Given the description of an element on the screen output the (x, y) to click on. 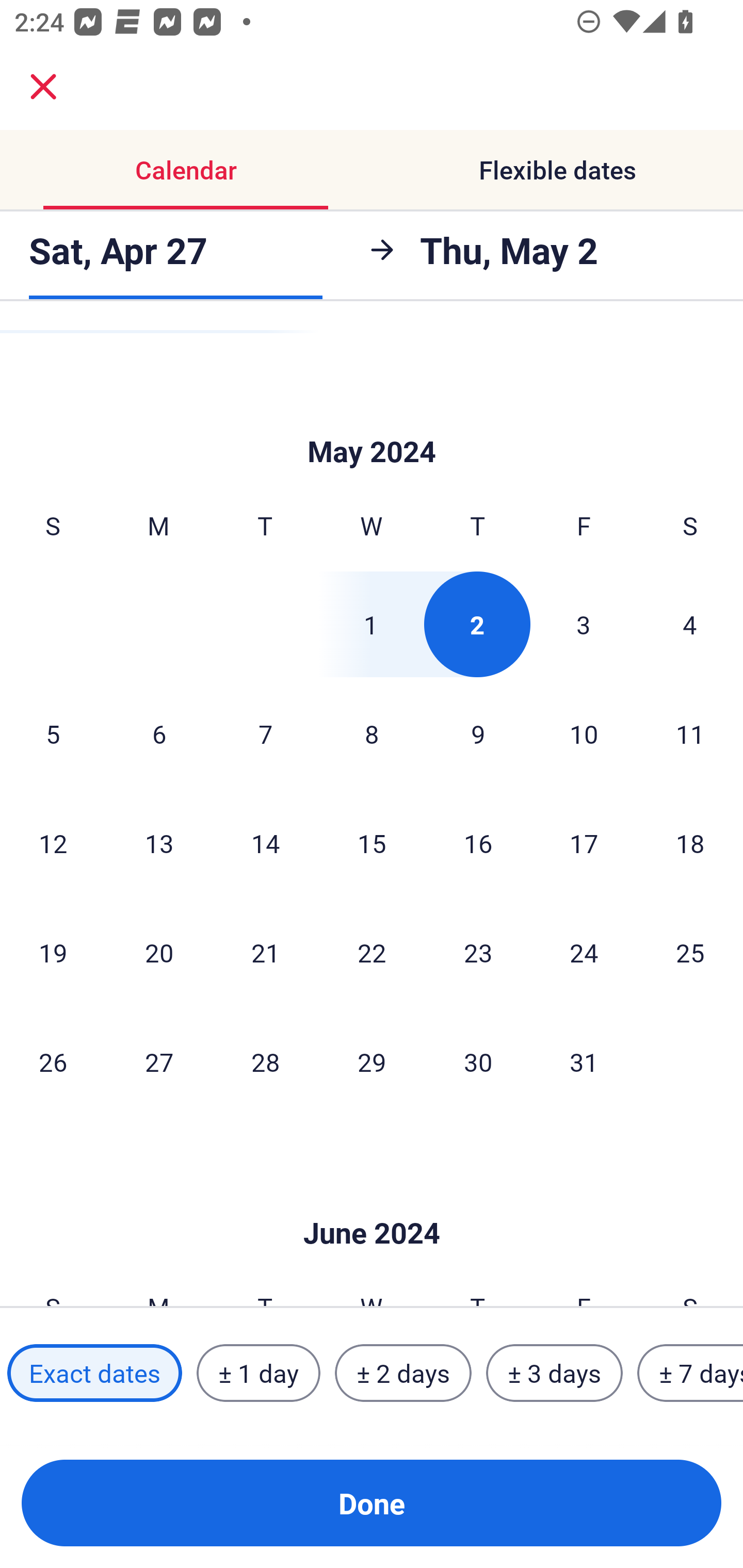
close. (43, 86)
Flexible dates (557, 170)
Skip to Done (371, 420)
3 Friday, May 3, 2024 (583, 623)
4 Saturday, May 4, 2024 (689, 623)
5 Sunday, May 5, 2024 (53, 733)
6 Monday, May 6, 2024 (159, 733)
7 Tuesday, May 7, 2024 (265, 733)
8 Wednesday, May 8, 2024 (371, 733)
9 Thursday, May 9, 2024 (477, 733)
10 Friday, May 10, 2024 (584, 733)
11 Saturday, May 11, 2024 (690, 733)
12 Sunday, May 12, 2024 (53, 842)
13 Monday, May 13, 2024 (159, 842)
14 Tuesday, May 14, 2024 (265, 842)
15 Wednesday, May 15, 2024 (371, 842)
16 Thursday, May 16, 2024 (477, 842)
17 Friday, May 17, 2024 (584, 842)
18 Saturday, May 18, 2024 (690, 842)
19 Sunday, May 19, 2024 (53, 952)
20 Monday, May 20, 2024 (159, 952)
21 Tuesday, May 21, 2024 (265, 952)
22 Wednesday, May 22, 2024 (371, 952)
23 Thursday, May 23, 2024 (477, 952)
24 Friday, May 24, 2024 (584, 952)
25 Saturday, May 25, 2024 (690, 952)
26 Sunday, May 26, 2024 (53, 1061)
27 Monday, May 27, 2024 (159, 1061)
28 Tuesday, May 28, 2024 (265, 1061)
29 Wednesday, May 29, 2024 (371, 1061)
30 Thursday, May 30, 2024 (477, 1061)
31 Friday, May 31, 2024 (584, 1061)
Skip to Done (371, 1201)
Exact dates (94, 1372)
± 1 day (258, 1372)
± 2 days (403, 1372)
± 3 days (553, 1372)
± 7 days (690, 1372)
Done (371, 1502)
